Given the description of an element on the screen output the (x, y) to click on. 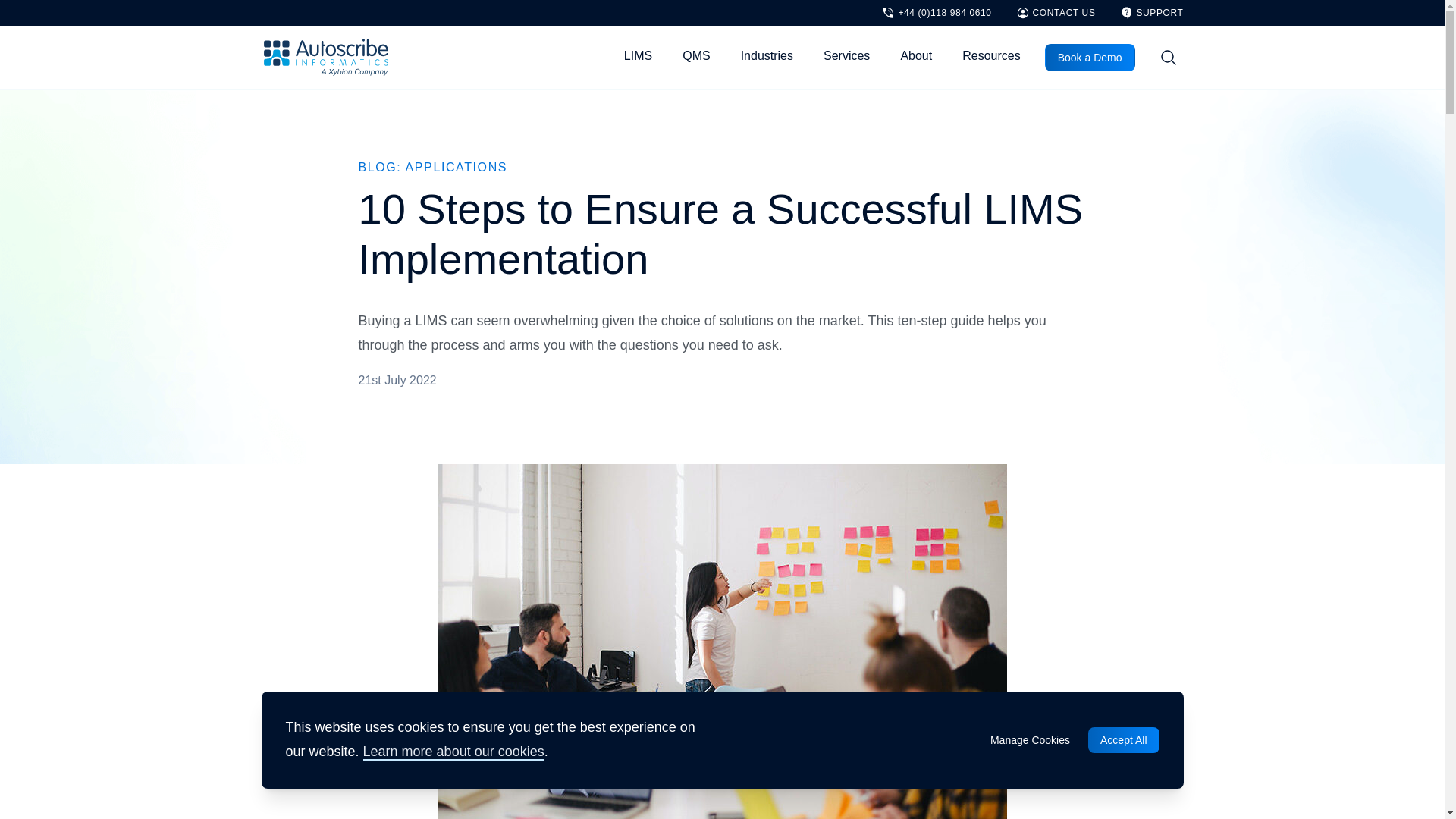
LIMS (637, 57)
Industries (767, 57)
QMS (696, 57)
SUPPORT (1150, 12)
CONTACT US (1056, 12)
